Given the description of an element on the screen output the (x, y) to click on. 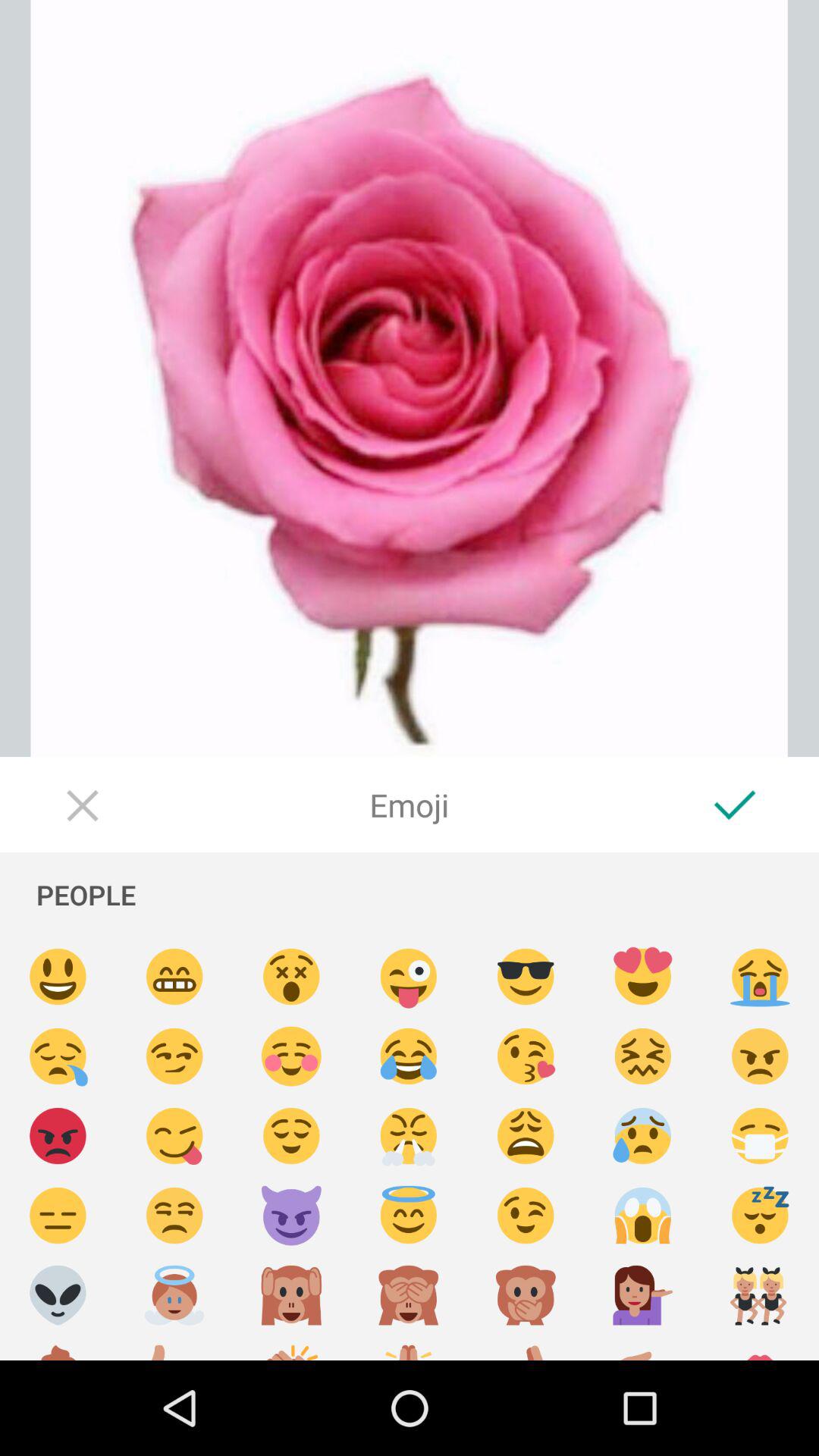
angel emoji (174, 1295)
